Given the description of an element on the screen output the (x, y) to click on. 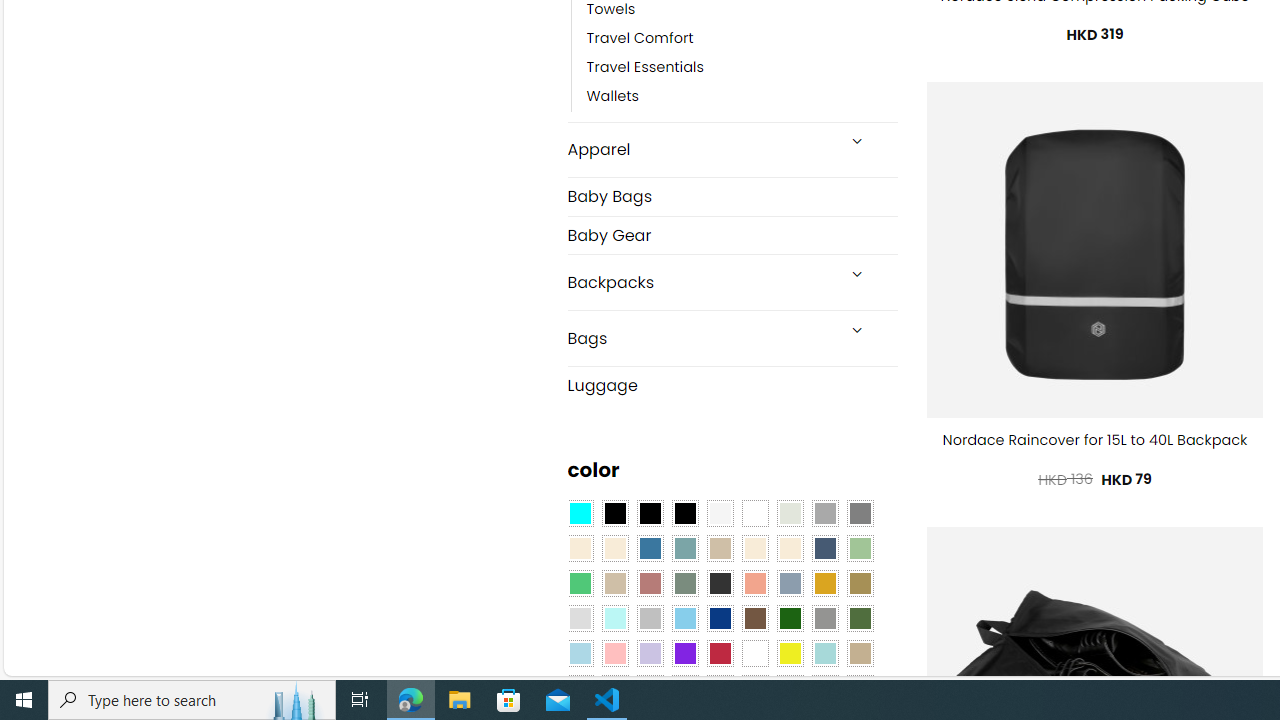
Luggage (732, 384)
Travel Essentials (742, 67)
Baby Gear (732, 234)
Purple (684, 653)
Black (650, 514)
Backpacks (700, 282)
Beige (579, 548)
Brownie (719, 548)
White (755, 653)
Clear (755, 514)
Navy Blue (719, 619)
Dark Gray (824, 514)
Green (859, 619)
Sage (684, 583)
